Given the description of an element on the screen output the (x, y) to click on. 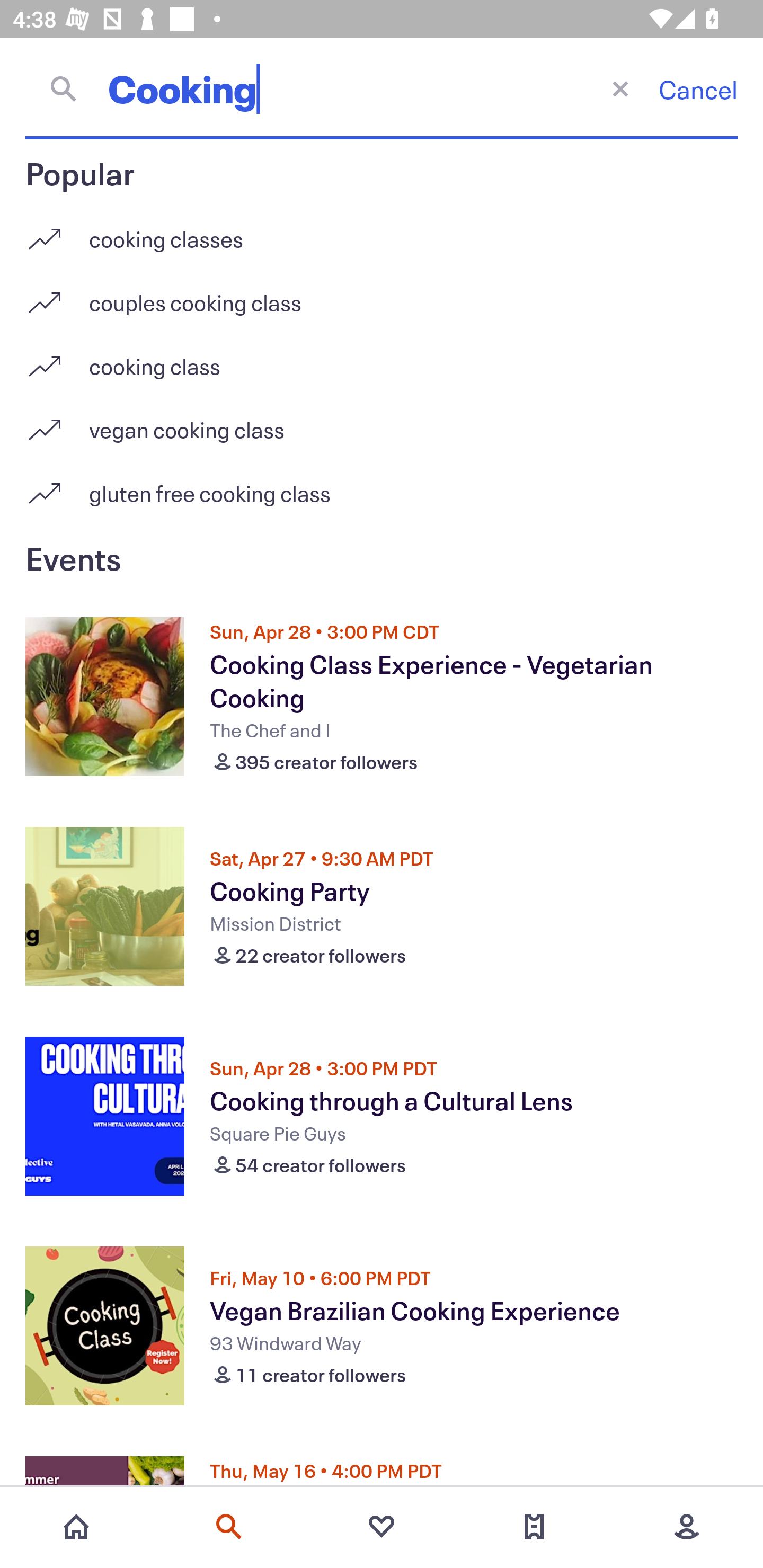
Cooking Close current screen Cancel (381, 88)
Close current screen (620, 88)
Cancel (697, 89)
cooking classes (381, 231)
couples cooking class (381, 295)
cooking class (381, 358)
vegan cooking class (381, 422)
gluten free cooking class (381, 492)
Home (76, 1526)
Search events (228, 1526)
Favorites (381, 1526)
Tickets (533, 1526)
More (686, 1526)
